Given the description of an element on the screen output the (x, y) to click on. 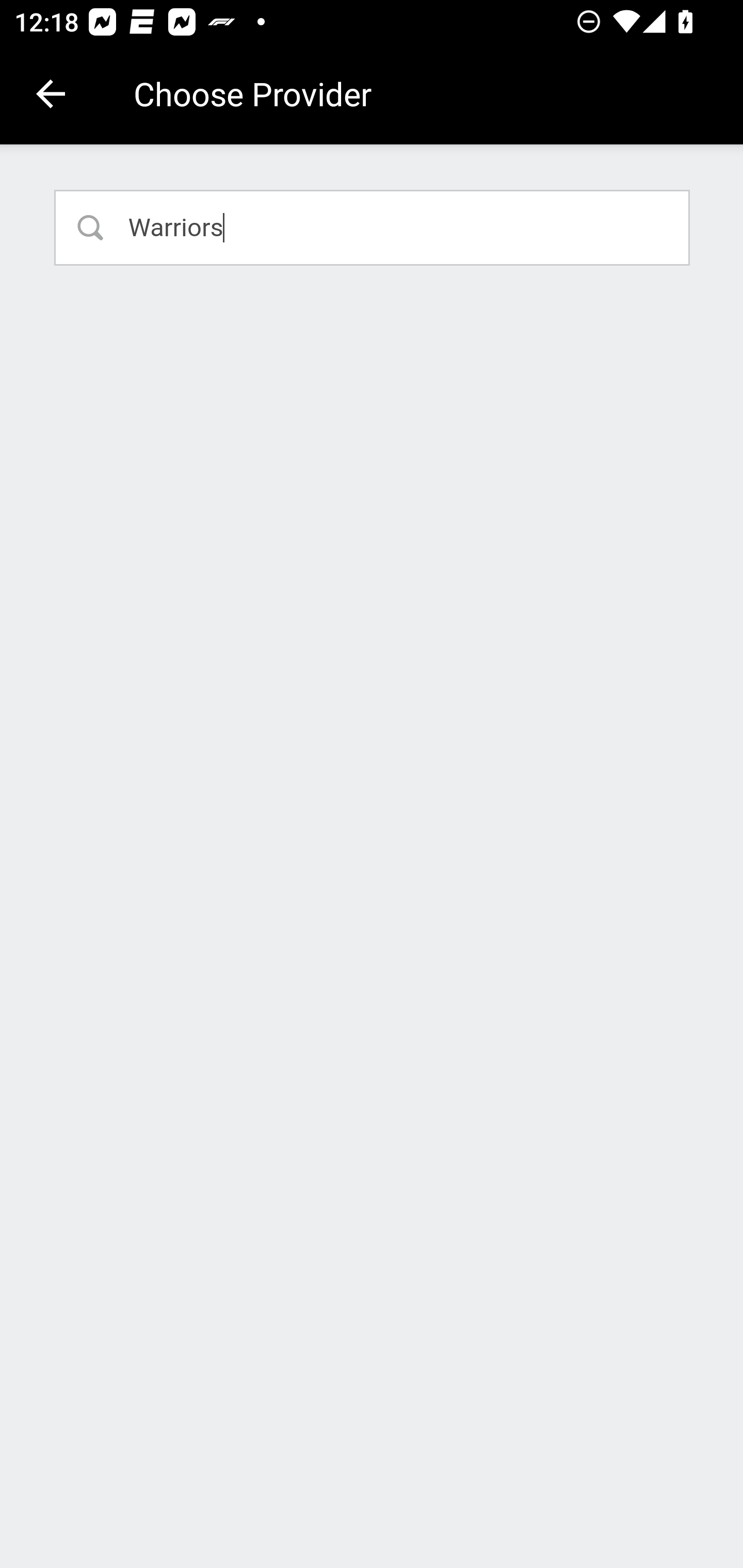
Navigate up (50, 93)
Warriors (372, 227)
